Given the description of an element on the screen output the (x, y) to click on. 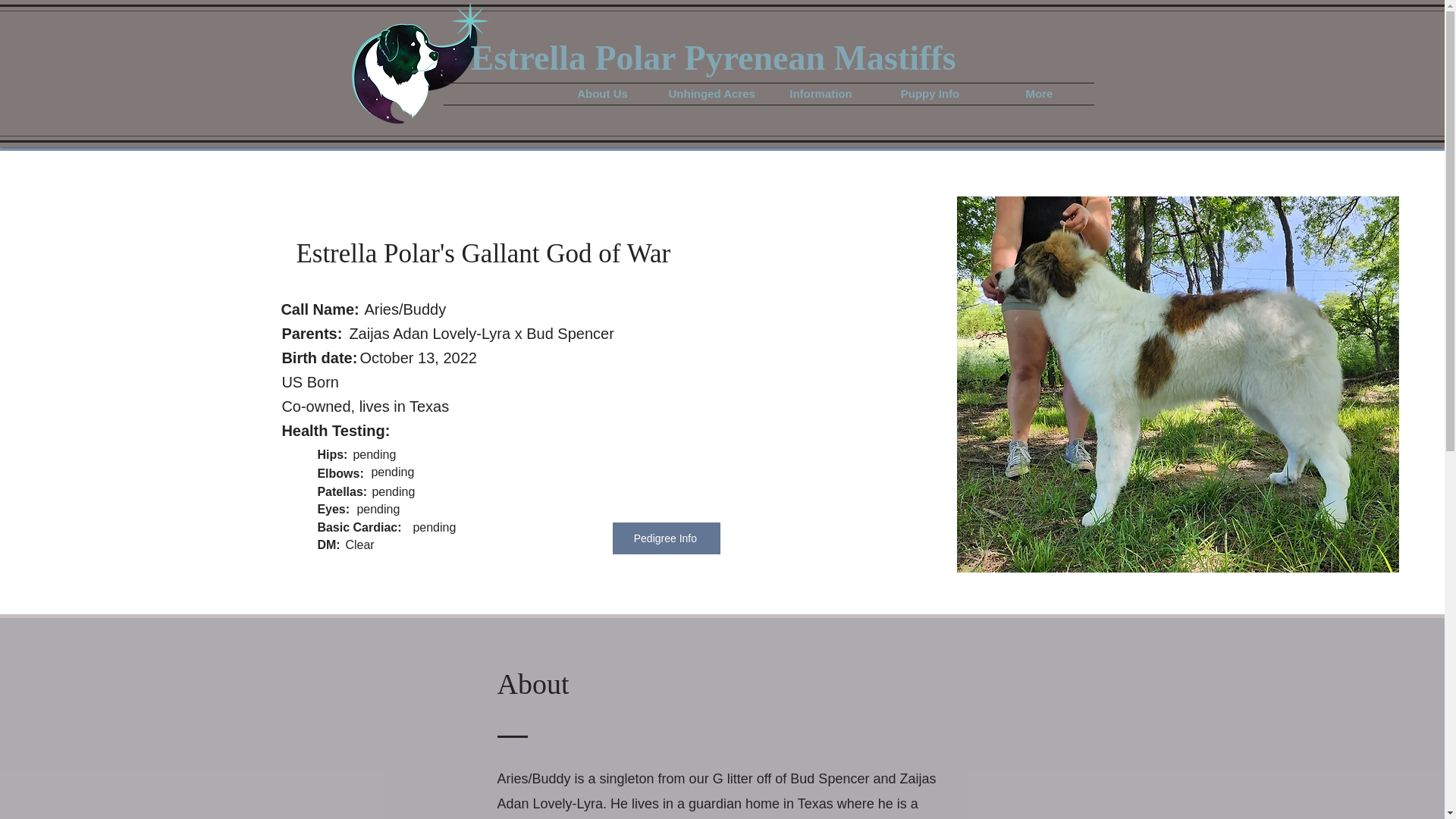
About Us (601, 93)
Pedigree Info (666, 538)
Unhinged Acres (710, 93)
